Given the description of an element on the screen output the (x, y) to click on. 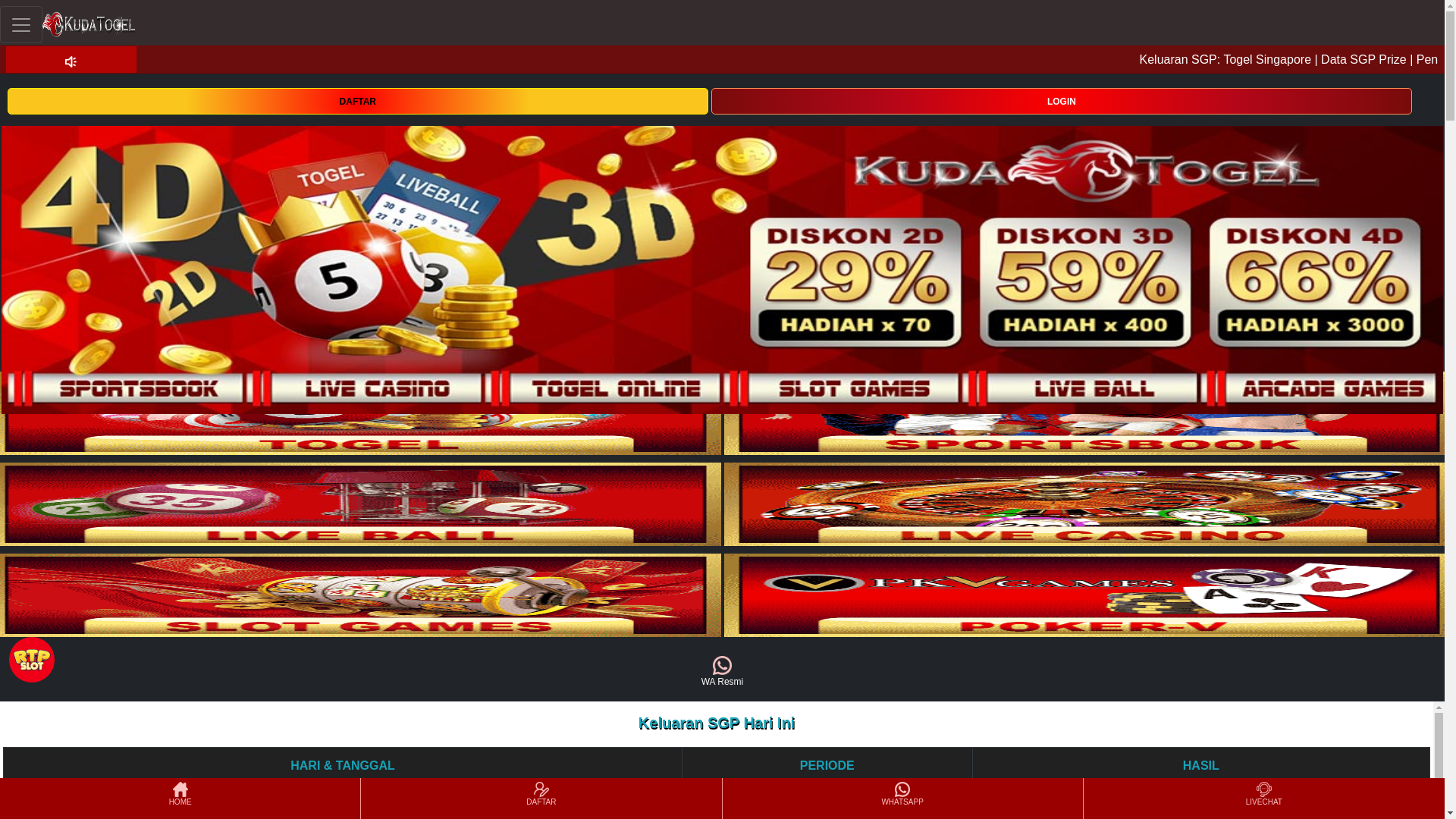
WHATSAPP (901, 798)
WA Resmi (722, 672)
DAFTAR (540, 798)
HOME (179, 798)
LOGIN (1061, 100)
DAFTAR (357, 100)
LIVECHAT (1263, 798)
LOGIN (1061, 100)
DAFTAR (357, 100)
